Given the description of an element on the screen output the (x, y) to click on. 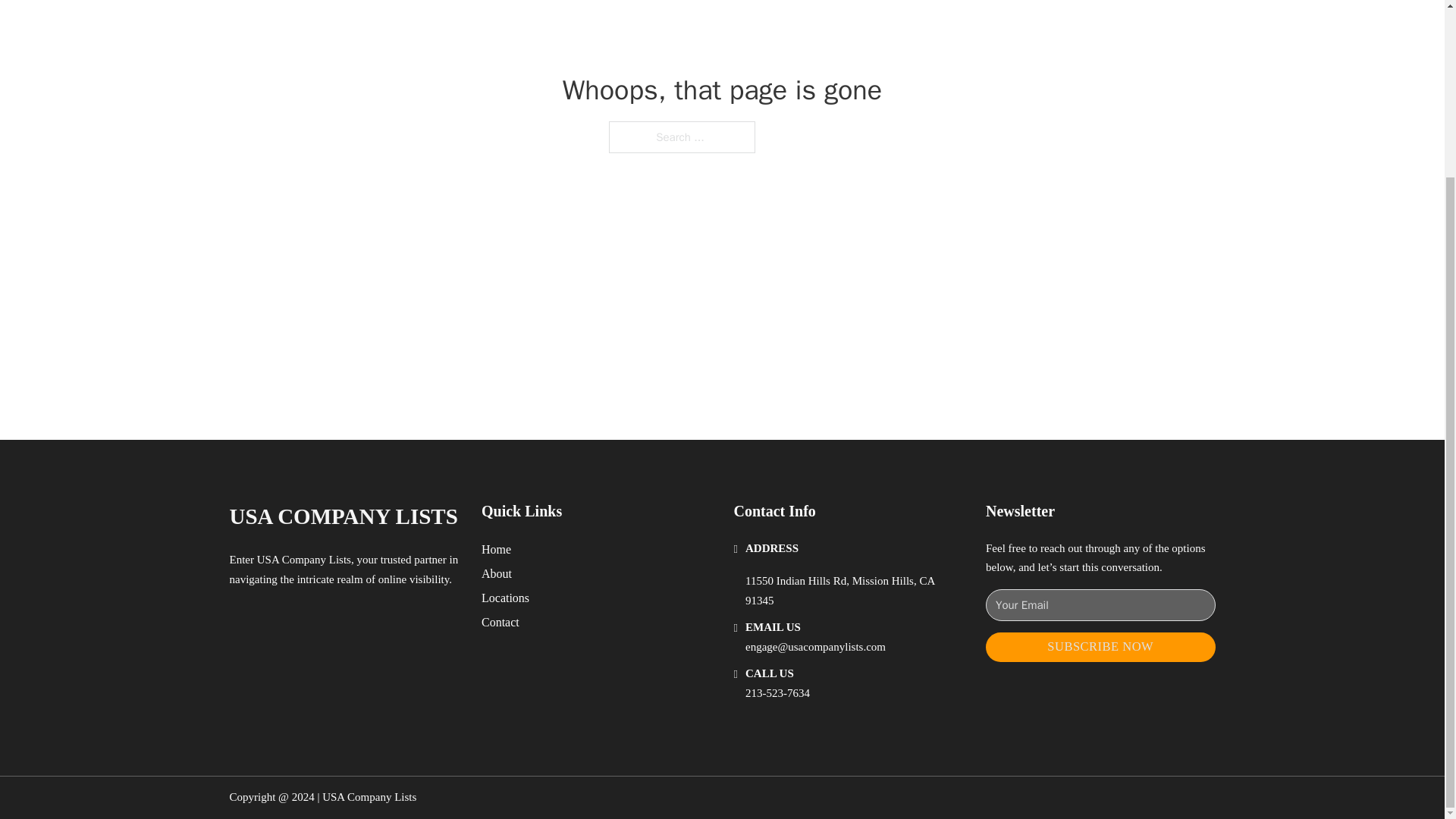
Contact (500, 621)
Home (496, 548)
213-523-7634 (777, 693)
Locations (505, 598)
About (496, 573)
USA COMPANY LISTS (342, 516)
SUBSCRIBE NOW (1100, 646)
